Given the description of an element on the screen output the (x, y) to click on. 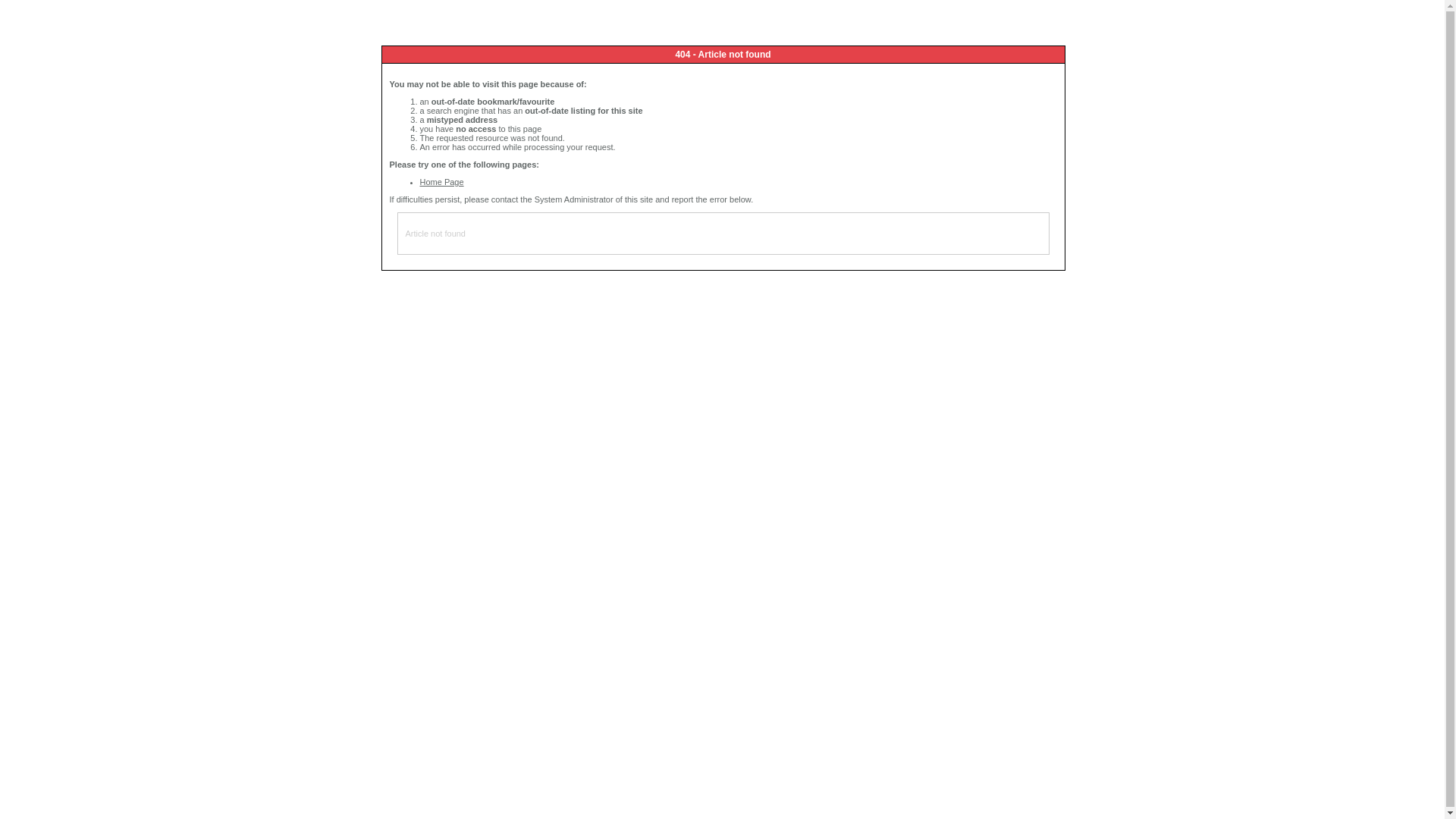
Home Page Element type: text (442, 181)
